Given the description of an element on the screen output the (x, y) to click on. 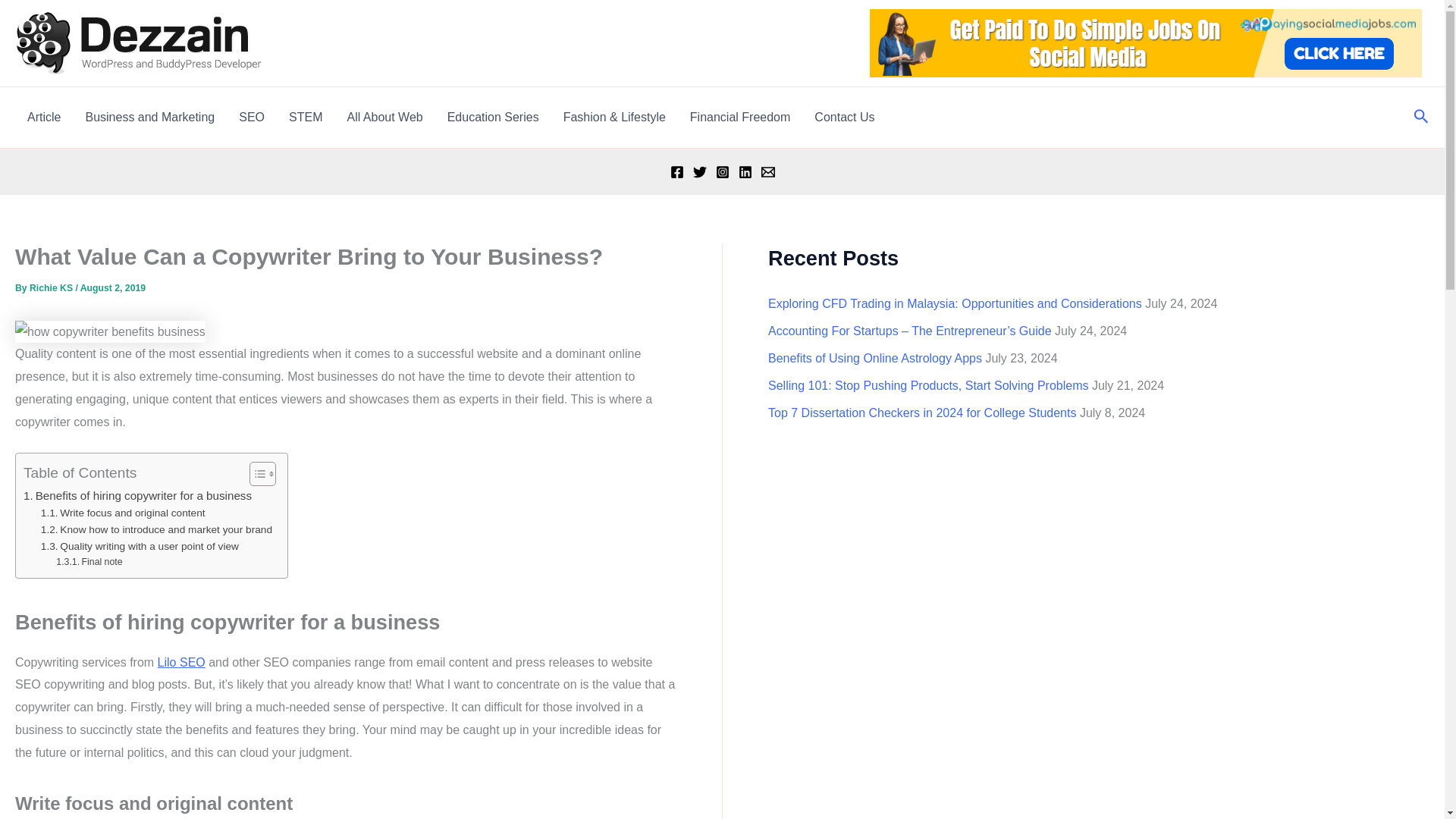
View all posts by Richie KS (52, 287)
Write focus and original content (122, 513)
Richie KS (52, 287)
SEO (251, 117)
Benefits of hiring copywriter for a business (137, 495)
Know how to introduce and market your brand (156, 529)
Contact Us (844, 117)
Business and Marketing (149, 117)
Lilo SEO (181, 662)
Article (43, 117)
Benefits of hiring copywriter for a business (137, 495)
All About Web (383, 117)
Know how to introduce and market your brand (156, 529)
Write focus and original content (122, 513)
STEM (305, 117)
